Given the description of an element on the screen output the (x, y) to click on. 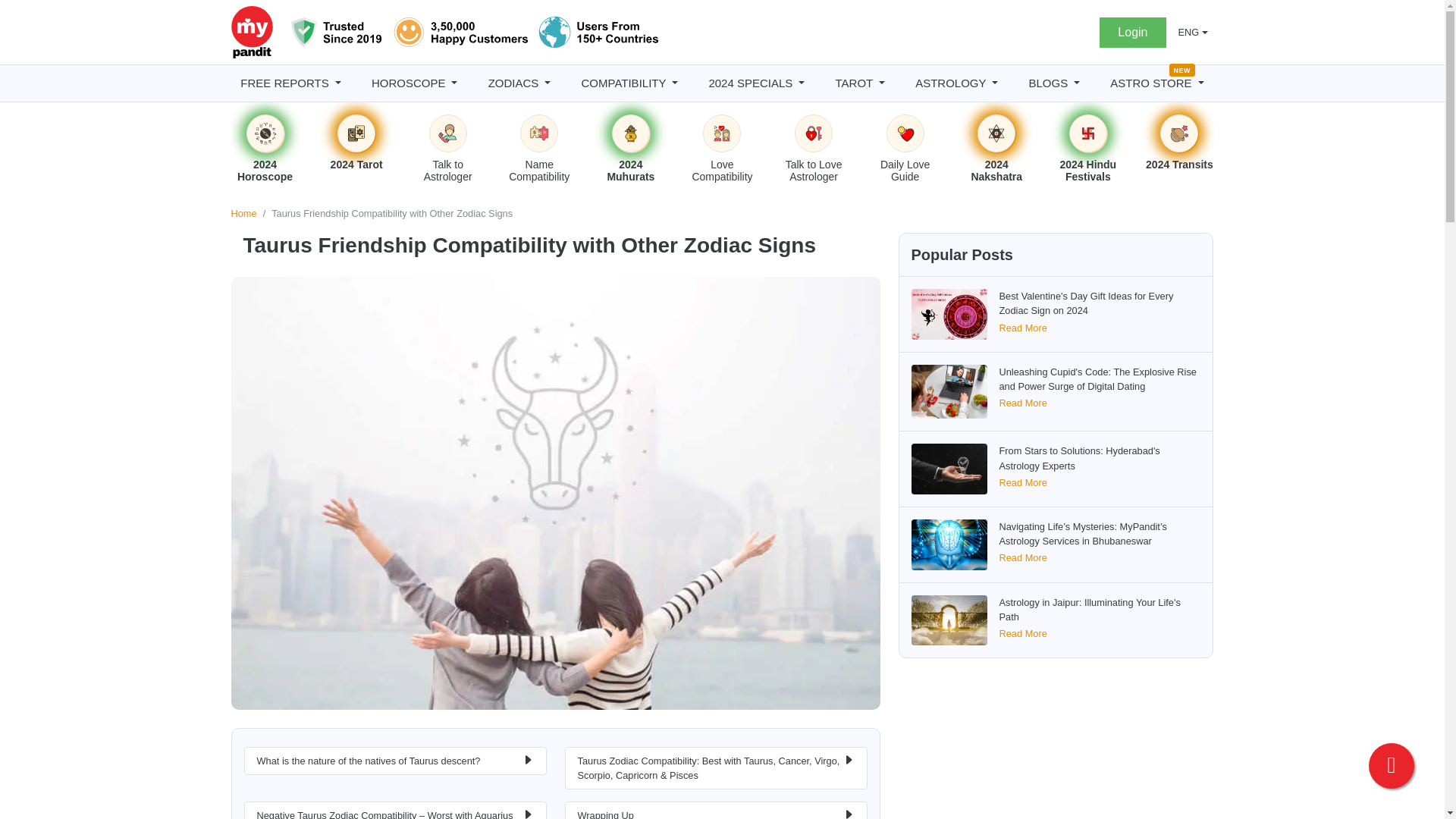
Love Compatibility (721, 133)
ENG (1192, 32)
Login (1132, 31)
2024 Transits (1179, 133)
ZODIACS (519, 83)
Talk to Love Astrologer (813, 133)
Name Compatibility (538, 133)
Talk to Astrologer (448, 133)
2024 Muhurats (631, 133)
